Given the description of an element on the screen output the (x, y) to click on. 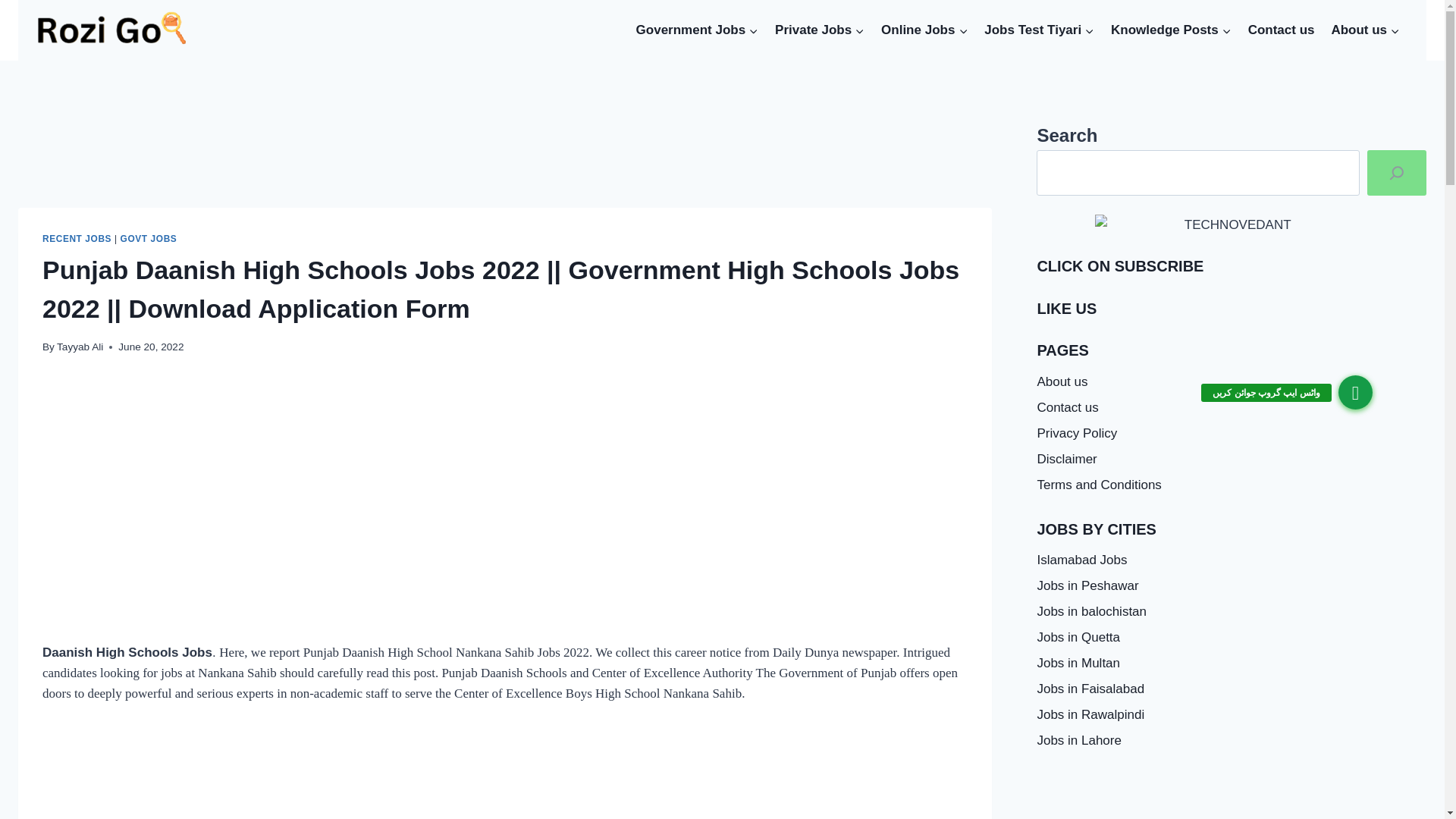
Advertisement (504, 773)
Jobs Test Tiyari (1038, 30)
Online Jobs (923, 30)
Advertisement (497, 429)
Private Jobs (819, 30)
Advertisement (1231, 796)
About us (1364, 30)
Contact us (1281, 30)
Advertisement (504, 161)
Government Jobs (697, 30)
Knowledge Posts (1171, 30)
